Given the description of an element on the screen output the (x, y) to click on. 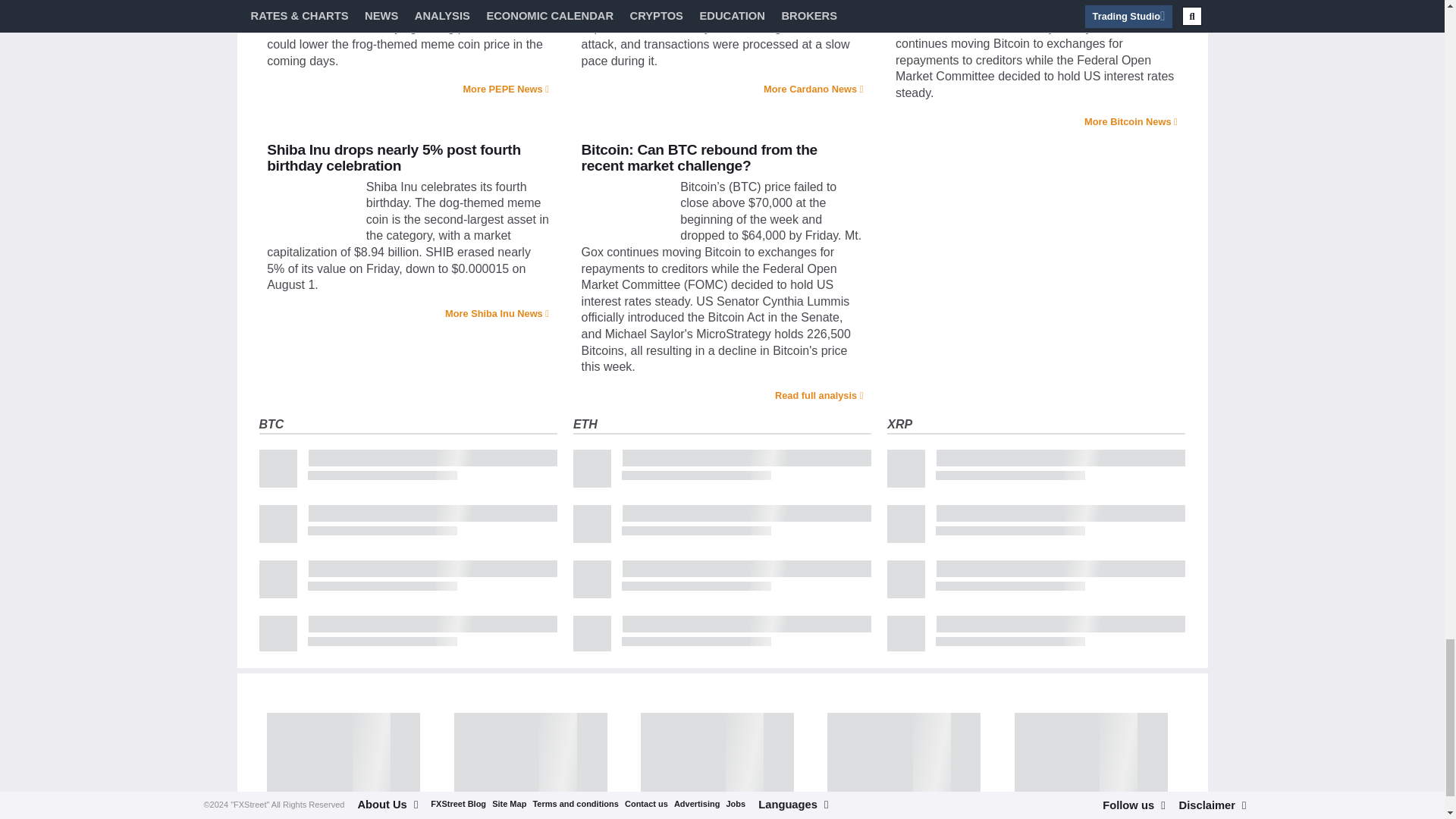
PEPE price poised for correction as whale takes profits (312, 2)
